Given the description of an element on the screen output the (x, y) to click on. 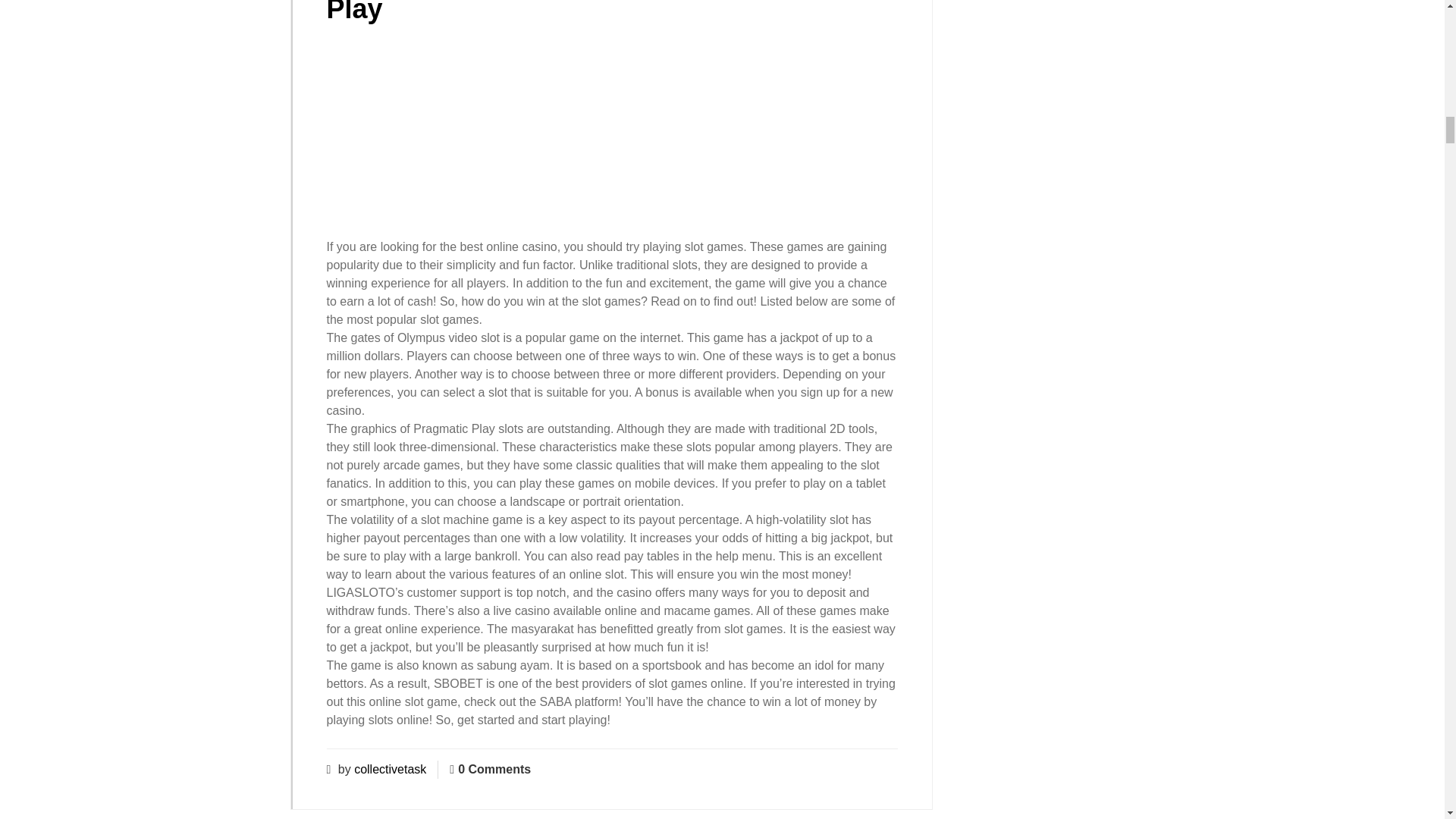
collectivetask (389, 768)
How to Win at Online Slots With Pragmatic Play (602, 11)
